Given the description of an element on the screen output the (x, y) to click on. 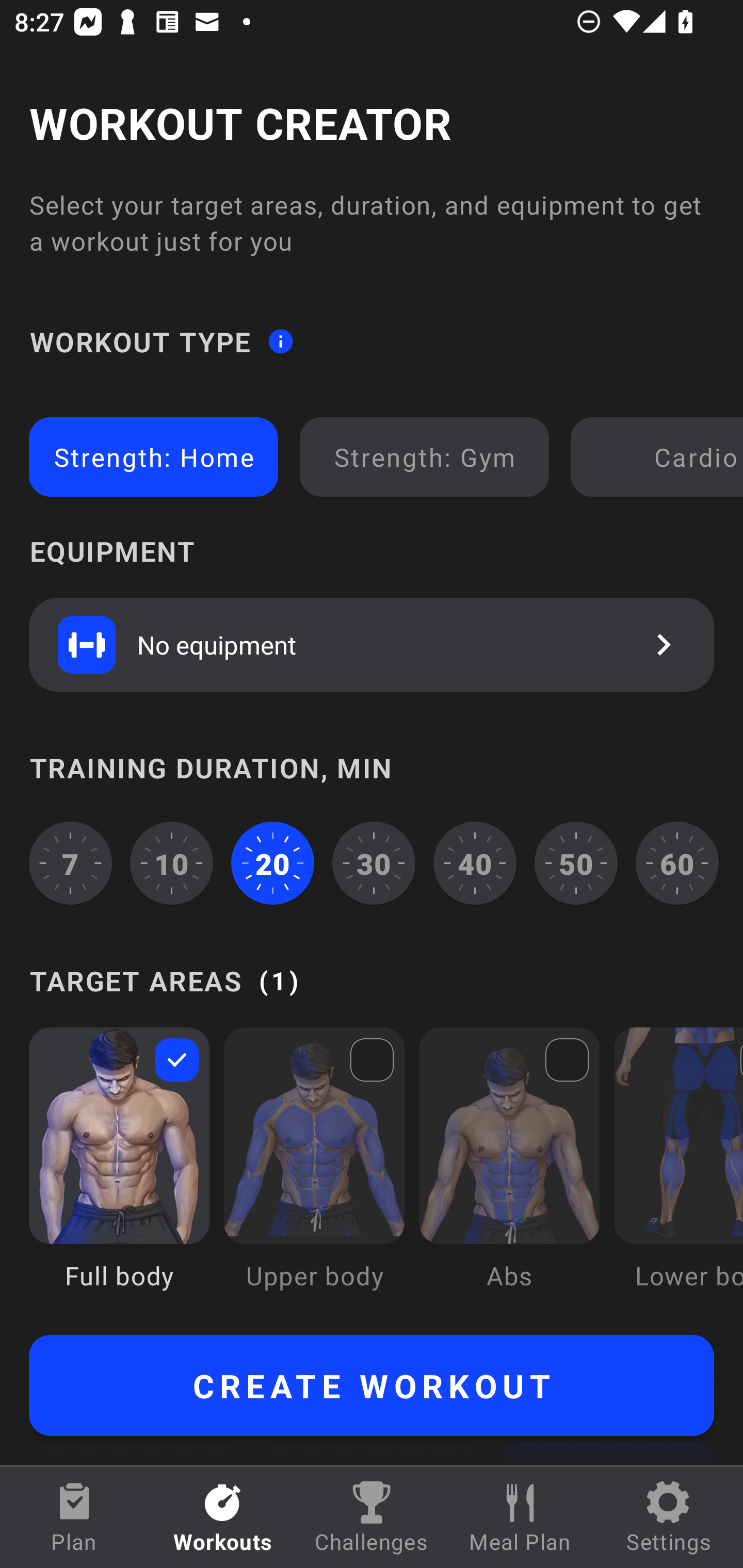
Workout type information button (280, 340)
Strength: Gym (423, 457)
Cardio (660, 457)
No equipment (371, 644)
7 (70, 862)
10 (171, 862)
20 (272, 862)
30 (373, 862)
40 (474, 862)
50 (575, 862)
60 (676, 862)
Upper body (313, 1172)
Abs (509, 1172)
Lower body (678, 1172)
CREATE WORKOUT (371, 1385)
 Plan  (74, 1517)
 Challenges  (371, 1517)
 Meal Plan  (519, 1517)
 Settings  (668, 1517)
